Given the description of an element on the screen output the (x, y) to click on. 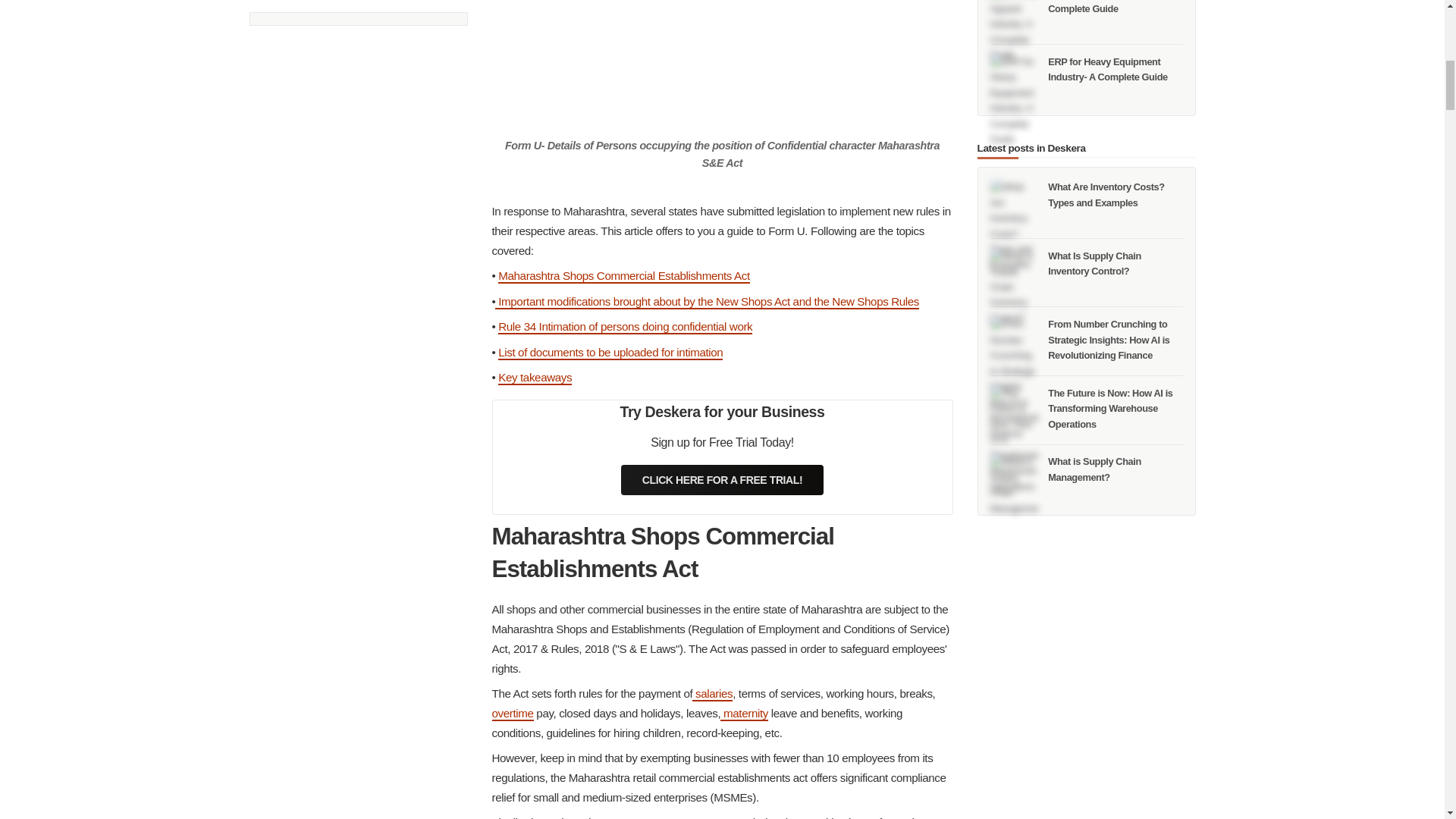
List of documents to be uploaded for intimation (609, 352)
Maharashtra Shops Commercial Establishments Act (623, 276)
Key takeaways (534, 377)
Rule 34 Intimation of persons doing confidential work (624, 327)
